Given the description of an element on the screen output the (x, y) to click on. 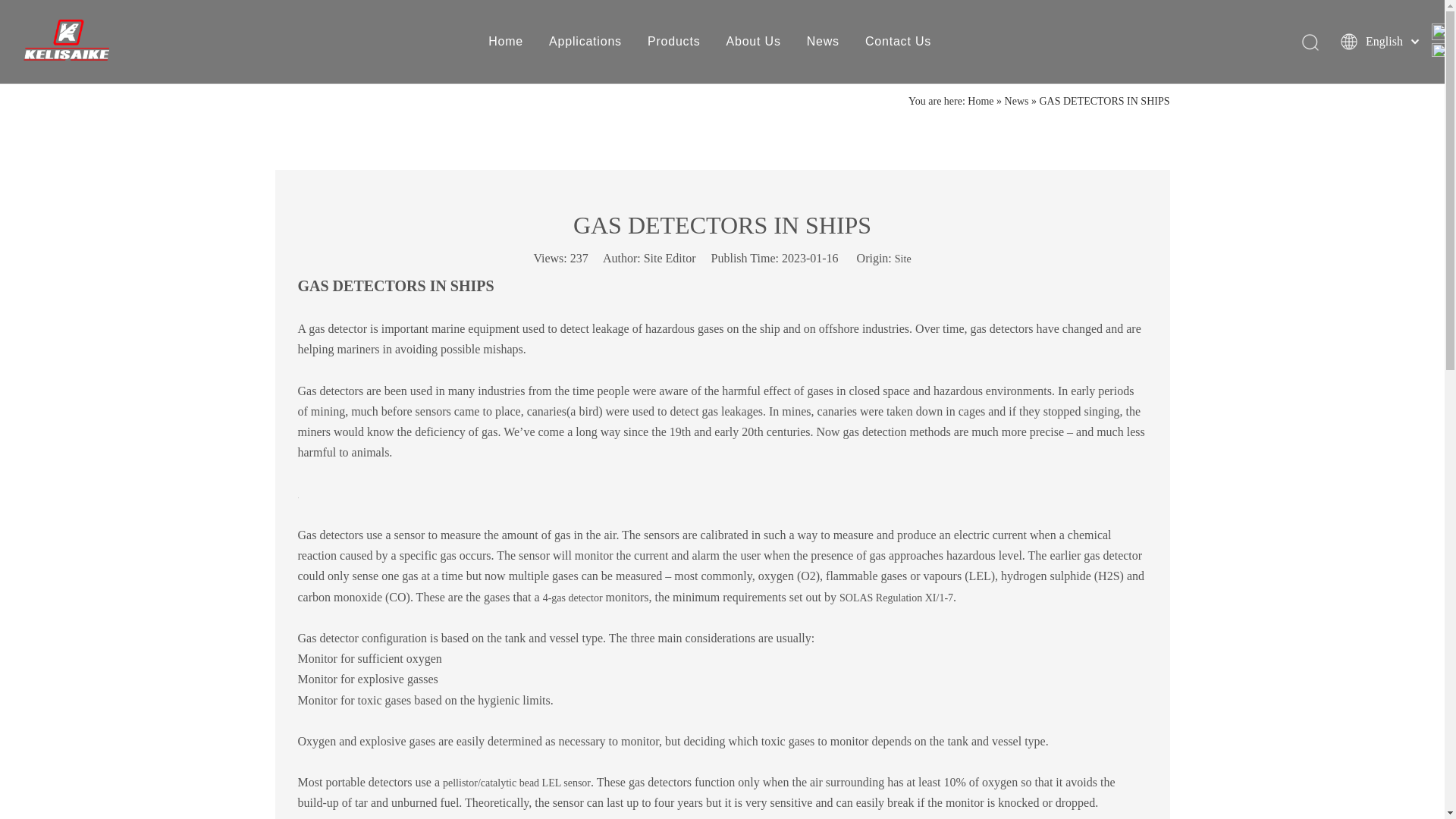
Products (673, 41)
Applications (584, 41)
Home (504, 41)
logox (67, 39)
